Given the description of an element on the screen output the (x, y) to click on. 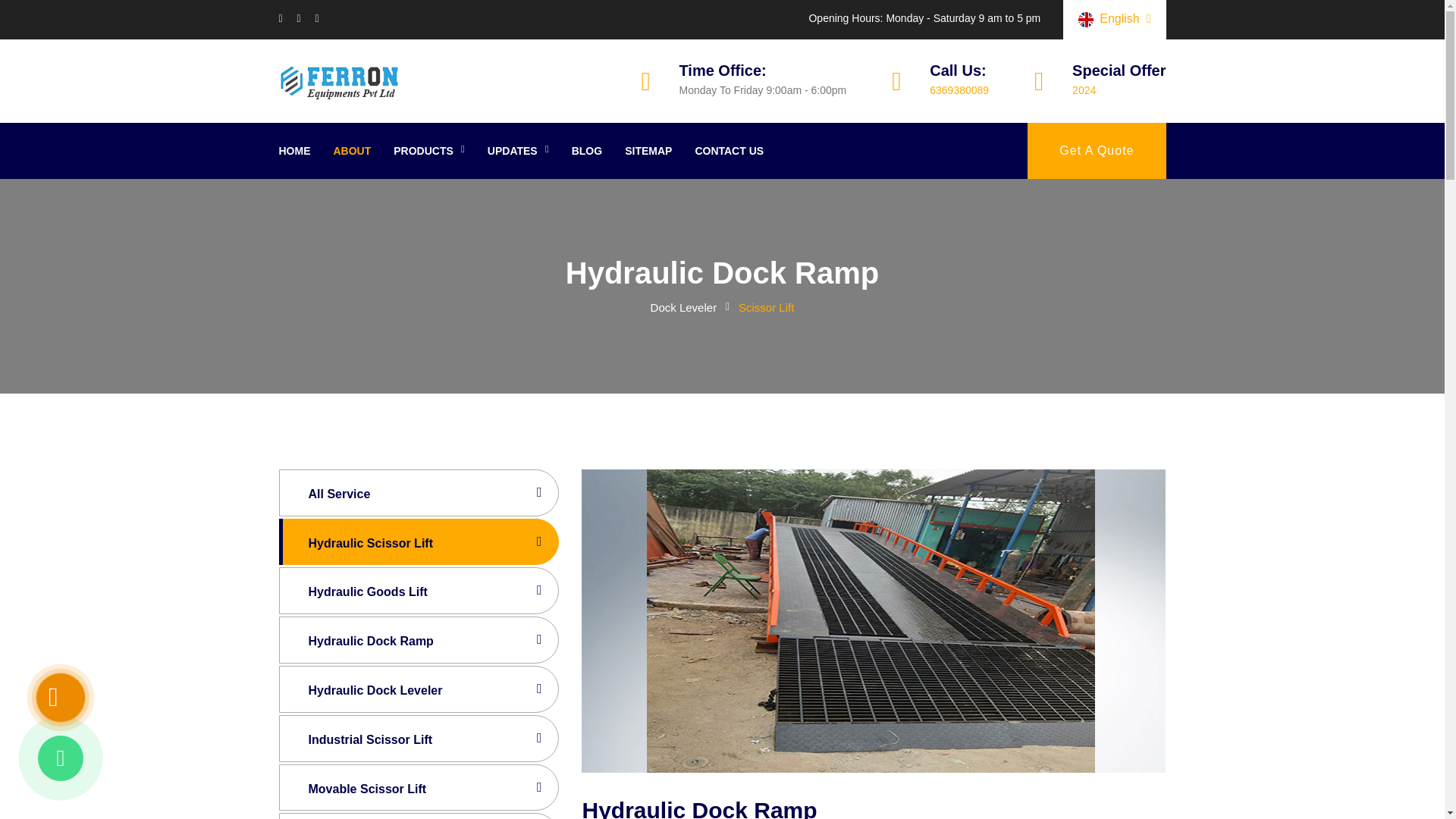
Company Logo (339, 81)
PRODUCTS (428, 150)
2024 (1083, 90)
6369380089 (959, 90)
English   (1114, 19)
